Given the description of an element on the screen output the (x, y) to click on. 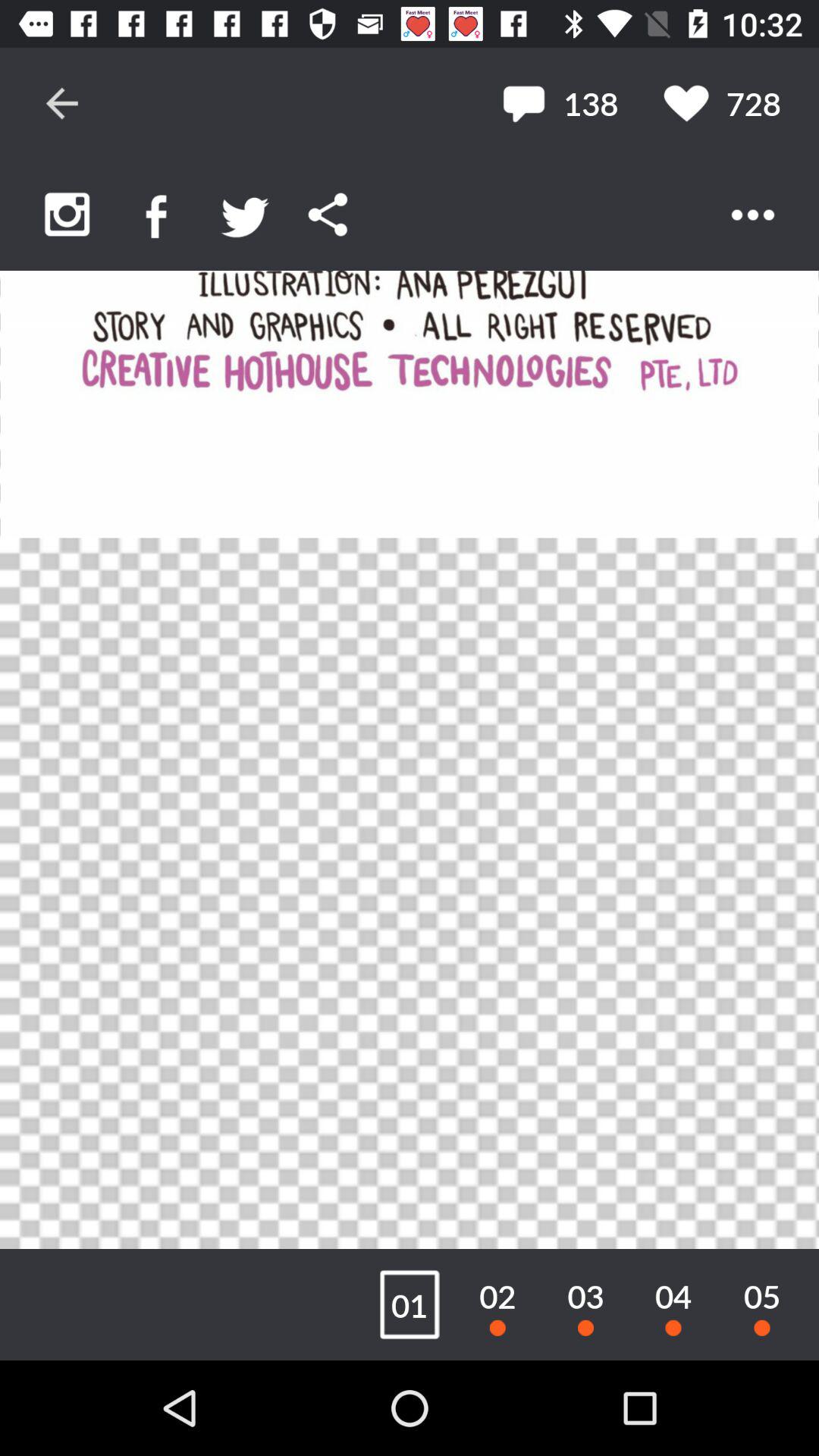
select the 01 icon (409, 1304)
